Given the description of an element on the screen output the (x, y) to click on. 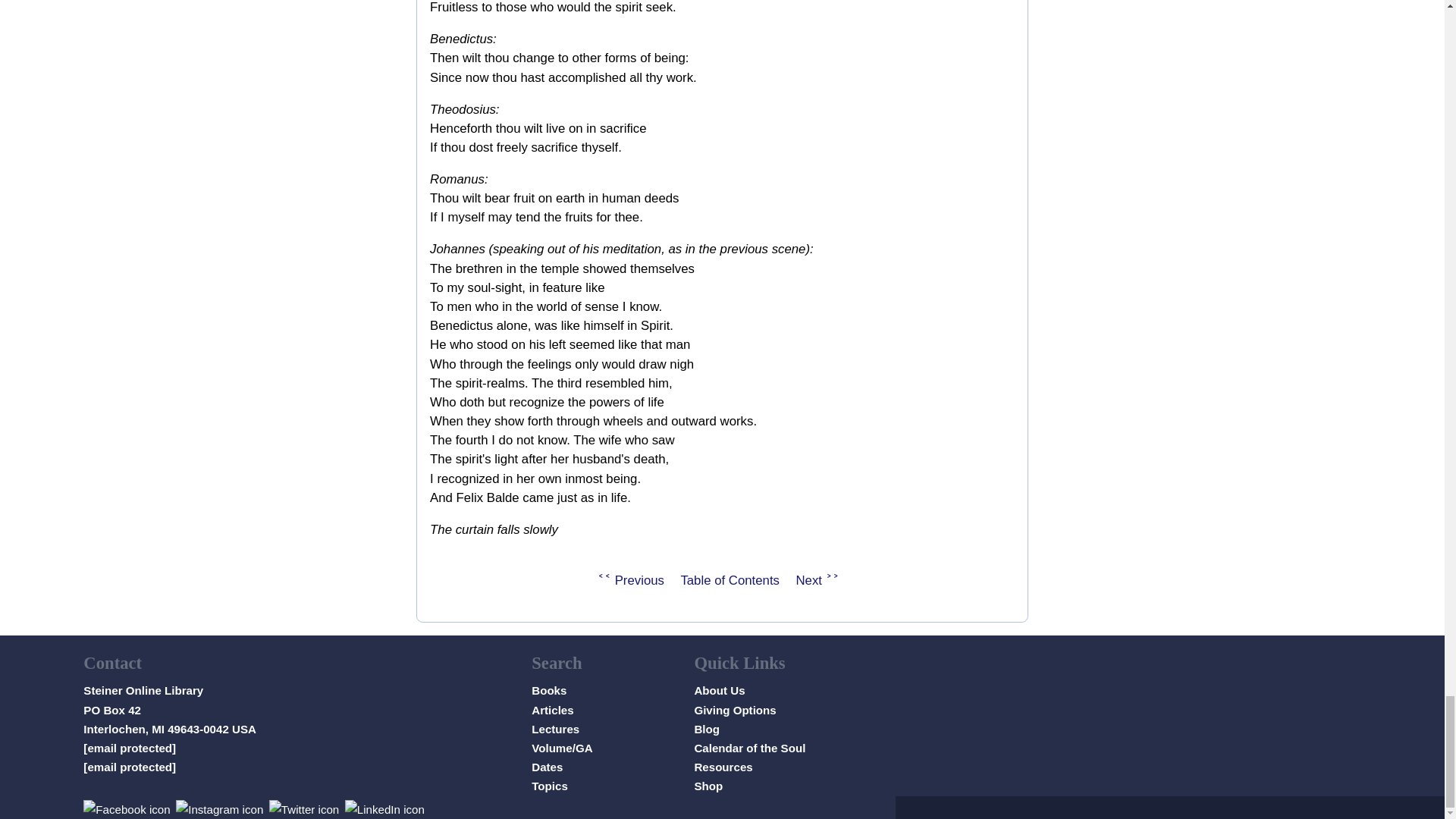
Table of Contents (730, 581)
